Given the description of an element on the screen output the (x, y) to click on. 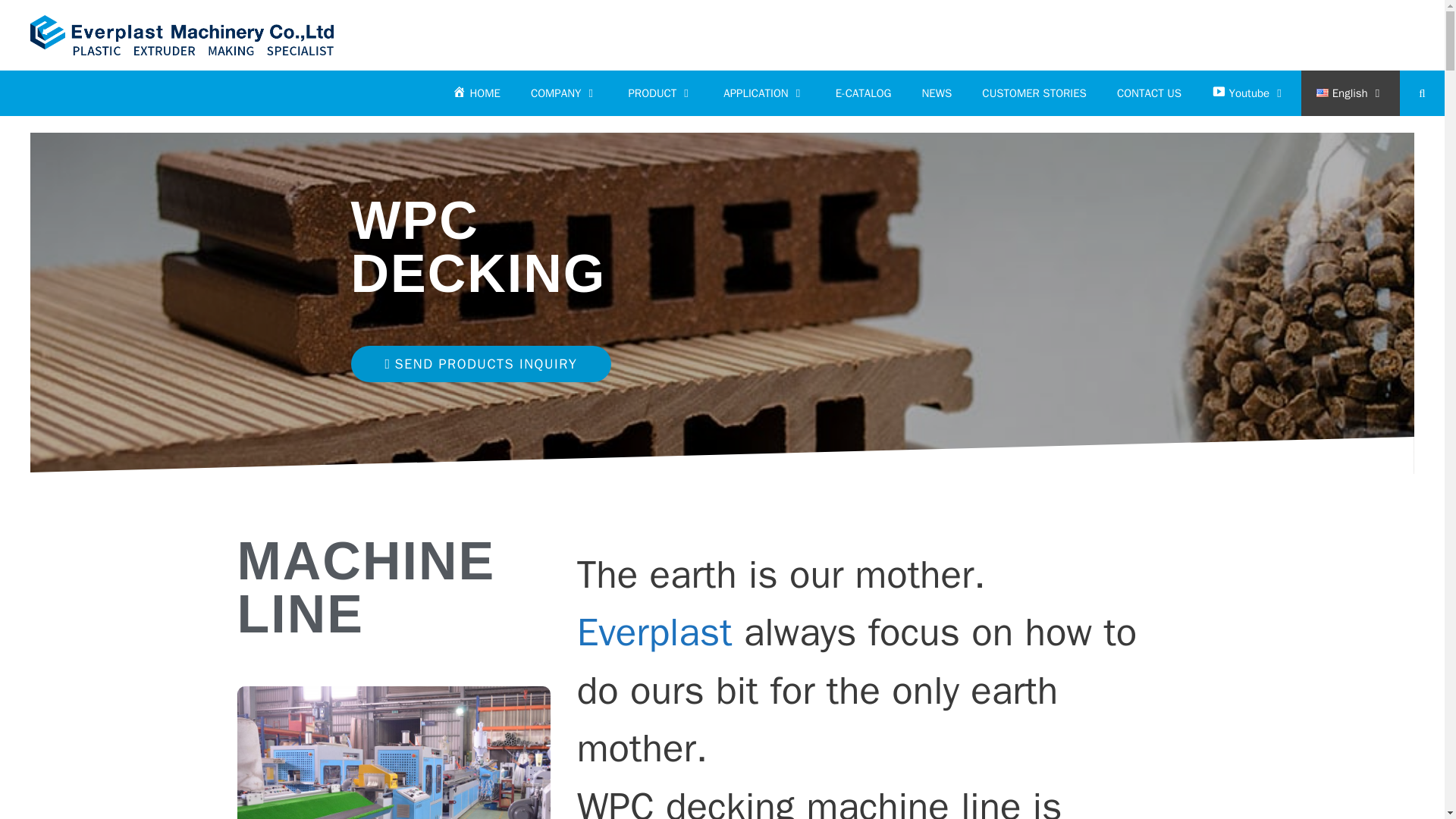
HOME (476, 93)
Everplast (181, 35)
Everplast (181, 34)
PRODUCT (659, 93)
COMPANY (563, 93)
